Given the description of an element on the screen output the (x, y) to click on. 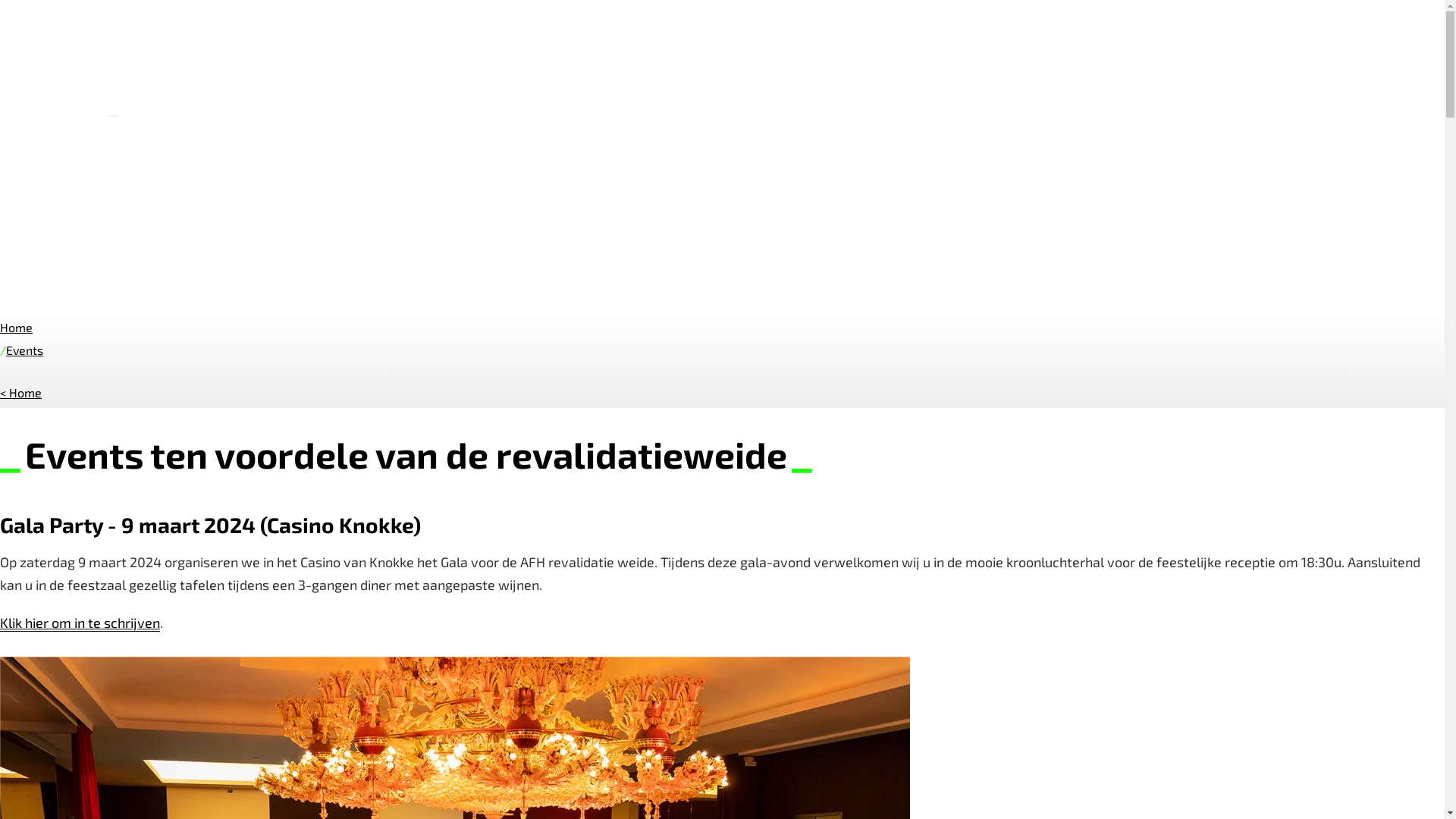
< Home Element type: text (20, 392)
Klik hier om in te schrijven Element type: text (80, 622)
Home Element type: text (16, 327)
Events Element type: text (24, 349)
